Given the description of an element on the screen output the (x, y) to click on. 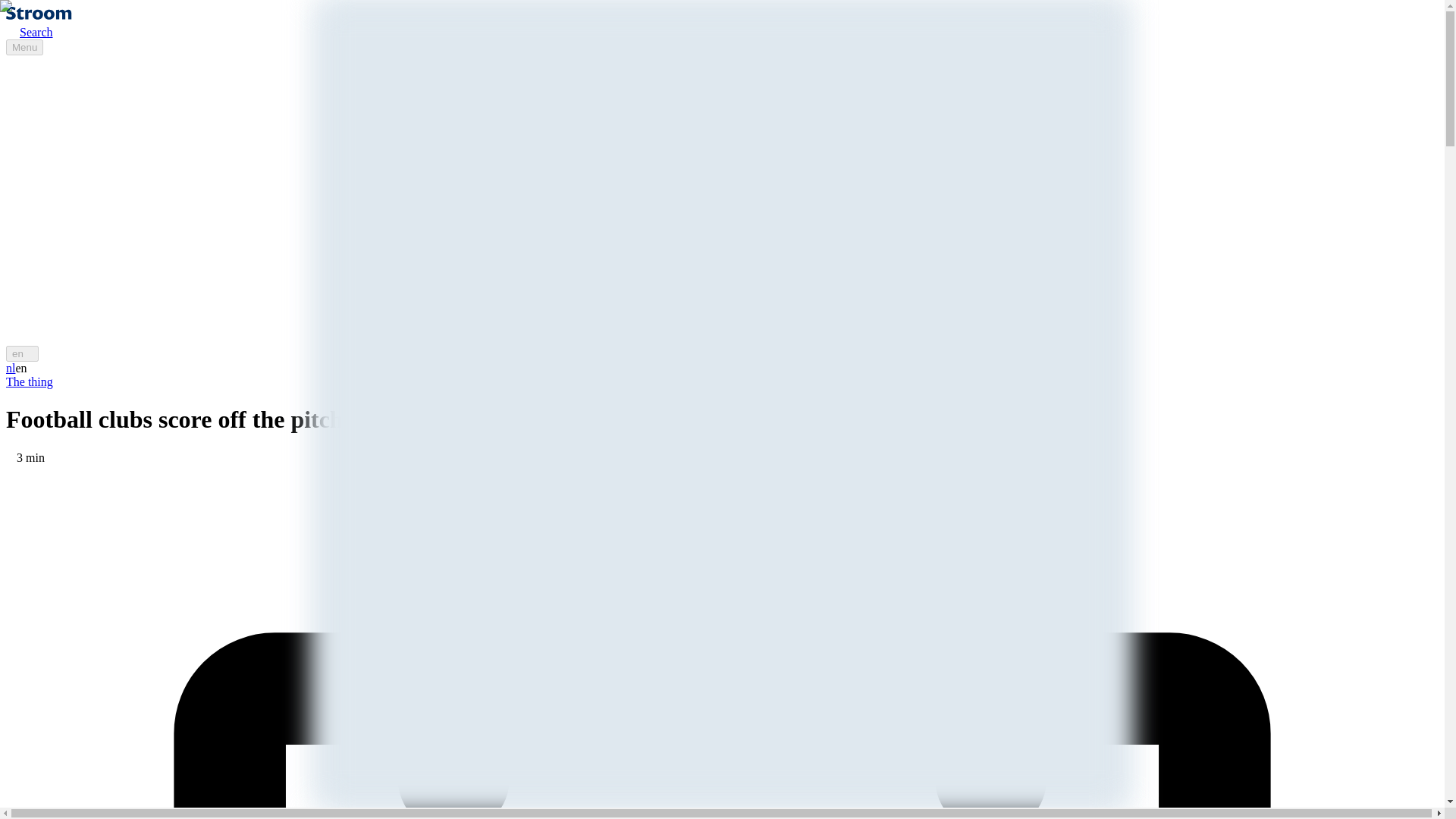
en (22, 353)
The thing (28, 381)
Search (28, 31)
Menu (24, 47)
menu (24, 47)
